Given the description of an element on the screen output the (x, y) to click on. 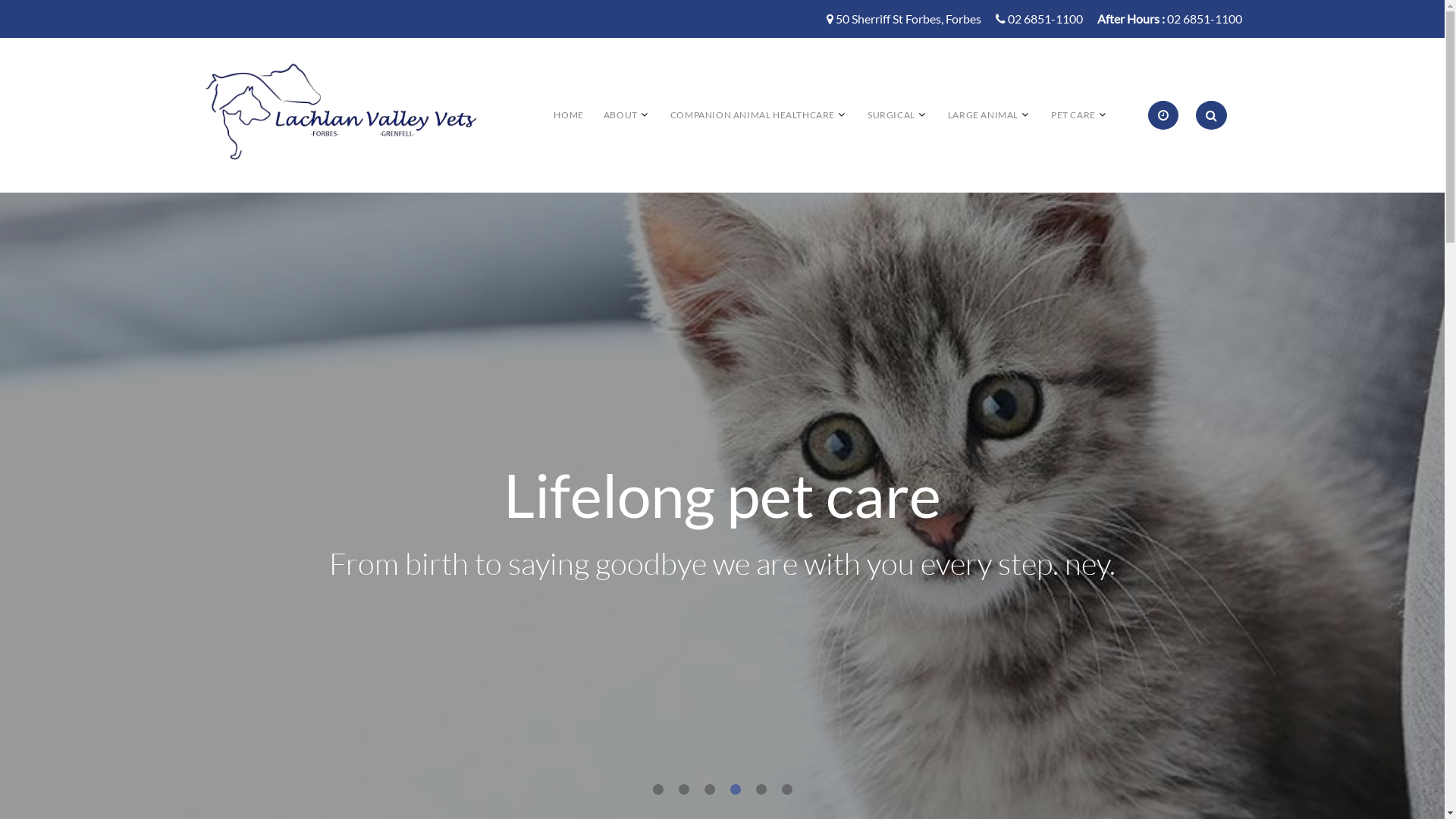
HOME Element type: text (568, 114)
02 6851-1100 Element type: text (1203, 19)
LARGE ANIMAL Element type: text (982, 114)
ABOUT Element type: text (620, 114)
COMPANION ANIMAL HEALTHCARE Element type: text (752, 114)
02 6851-1100 Element type: text (1044, 19)
SURGICAL Element type: text (891, 114)
PET CARE Element type: text (1073, 114)
